Given the description of an element on the screen output the (x, y) to click on. 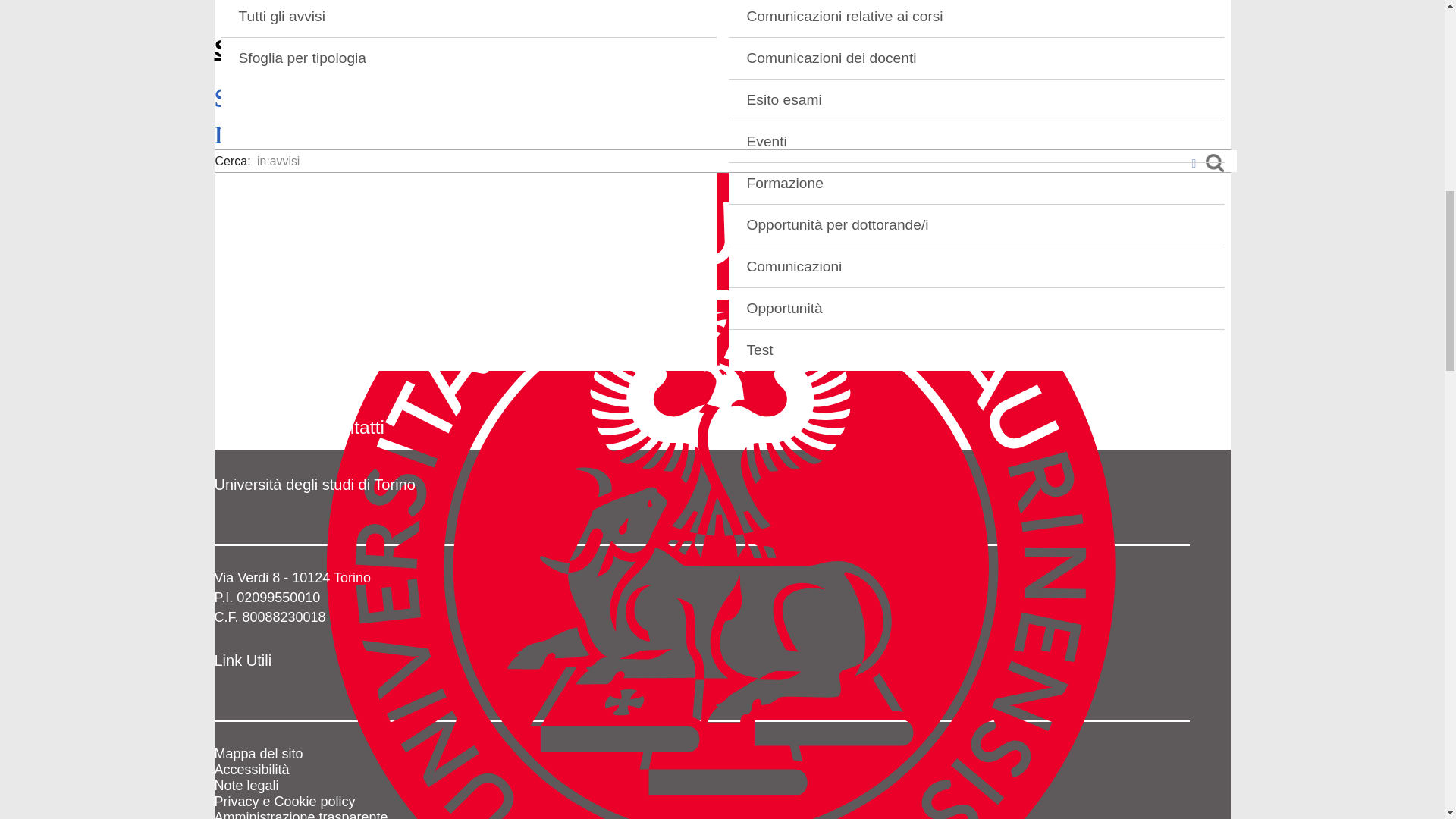
HOME (722, 18)
menu (254, 138)
Mostra il motore di ricerca del sito (260, 102)
search (260, 102)
Home page (326, 48)
in:avvisi  (744, 160)
Vai alla mappa del sito. (258, 753)
Mostra il menu del sito (254, 138)
Scuola di Dottorato (326, 48)
